Given the description of an element on the screen output the (x, y) to click on. 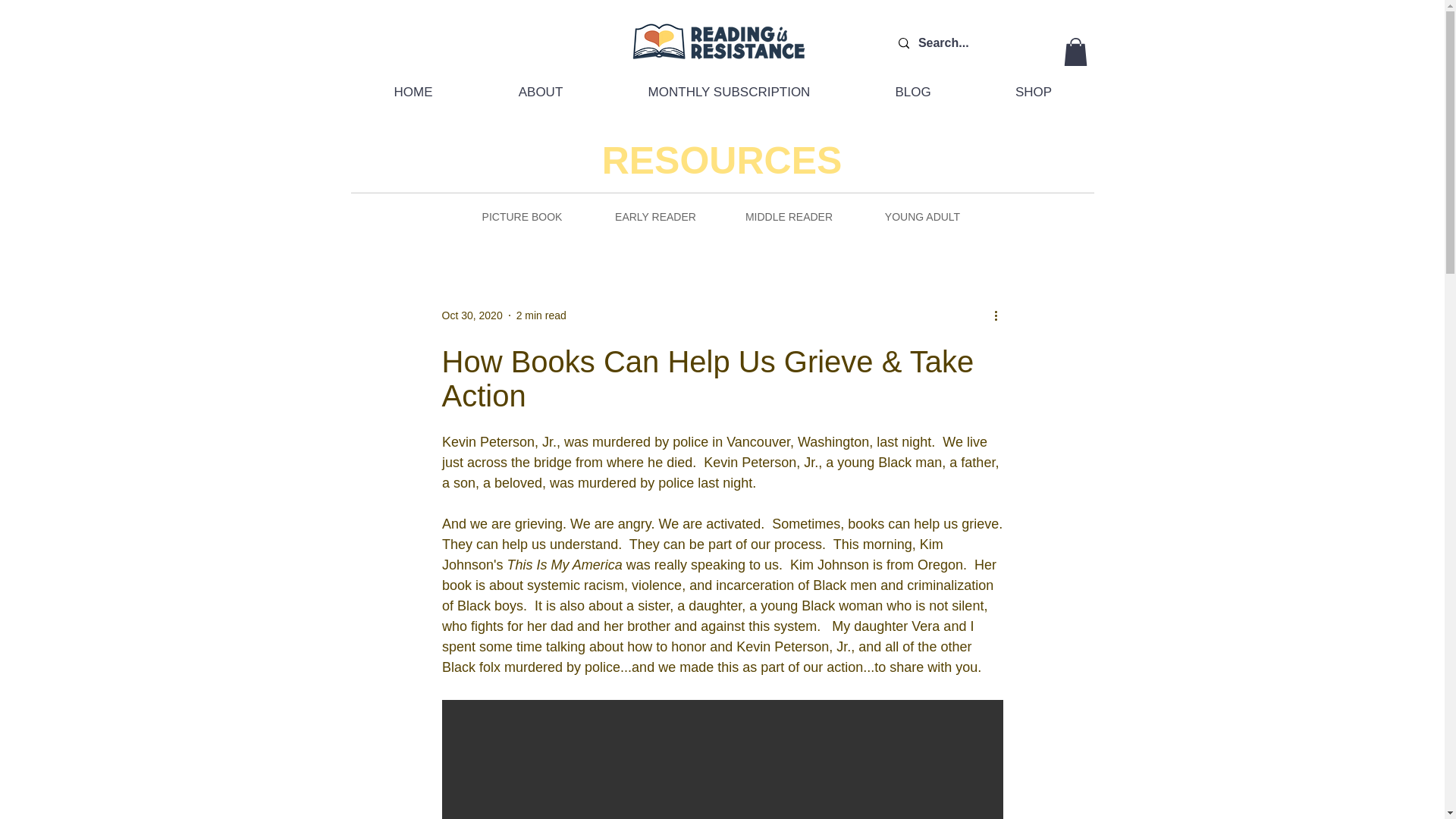
SHOP (1034, 92)
ABOUT (540, 92)
HOME (413, 92)
MONTHLY SUBSCRIPTION (728, 92)
BLOG (911, 92)
PICTURE BOOK (522, 217)
YOUNG ADULT (922, 217)
EARLY READER (656, 217)
MIDDLE READER (789, 217)
2 min read (541, 315)
Oct 30, 2020 (471, 315)
